Given the description of an element on the screen output the (x, y) to click on. 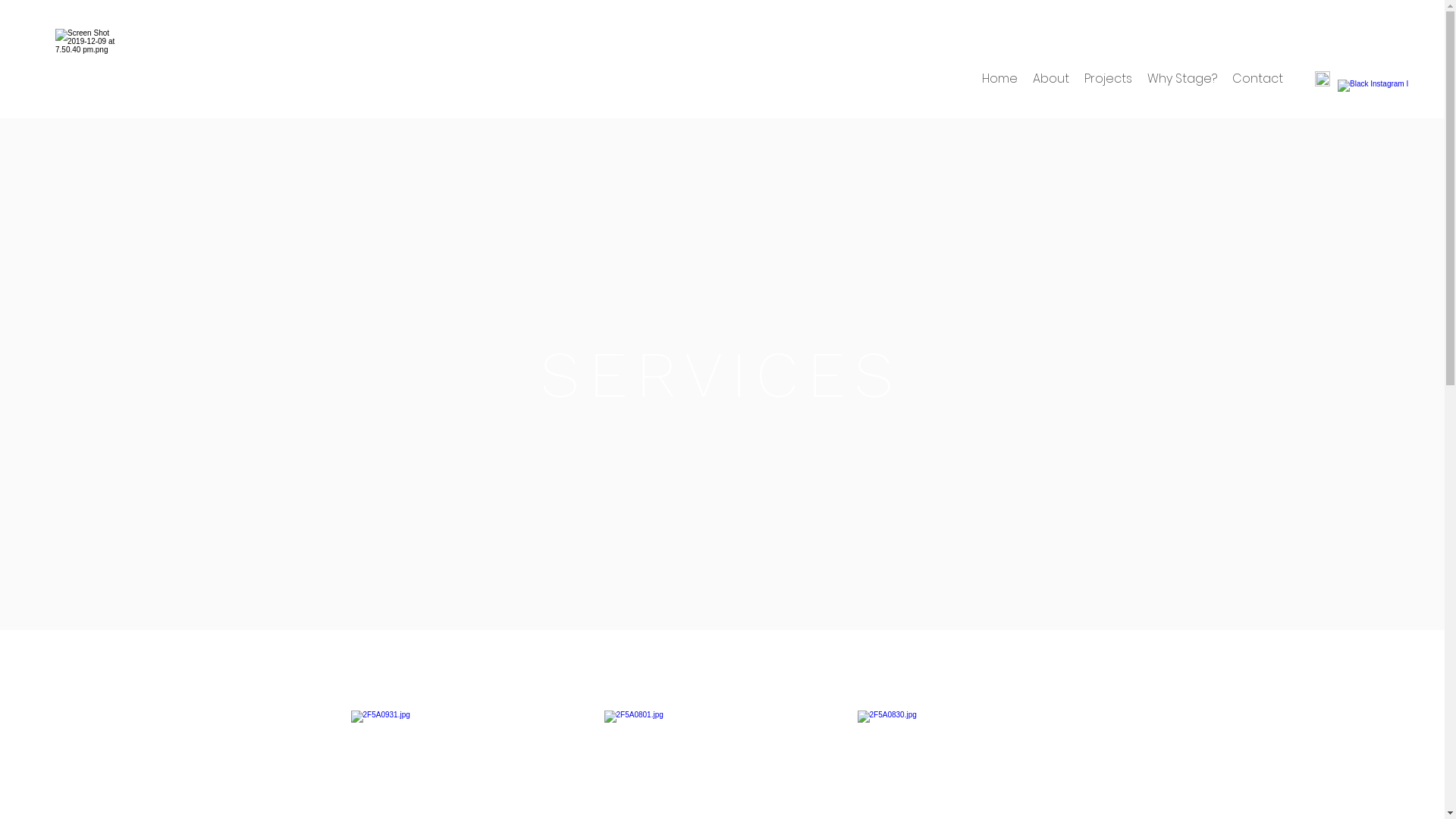
Why Stage? Element type: text (1181, 78)
Contact Element type: text (1257, 78)
Home Element type: text (999, 78)
Projects Element type: text (1107, 78)
About Element type: text (1050, 78)
